Given the description of an element on the screen output the (x, y) to click on. 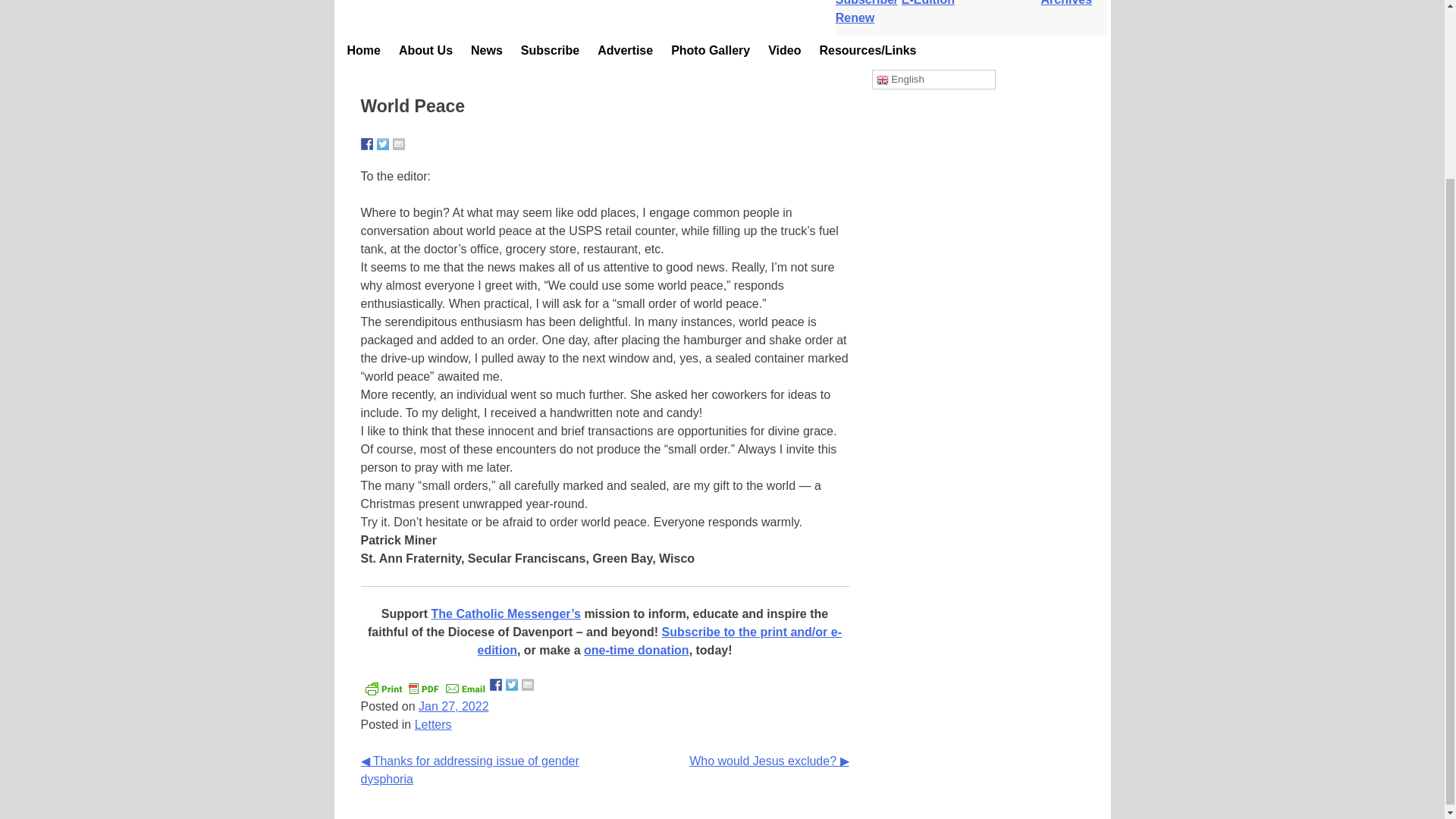
Subscribe (549, 50)
Share on Facebook (495, 684)
E-Edition (933, 2)
About Us (425, 50)
Share on Twitter (510, 684)
Archives (1073, 2)
Share on Facebook (366, 143)
Home (363, 50)
News (487, 50)
Share on Twitter (381, 143)
